Given the description of an element on the screen output the (x, y) to click on. 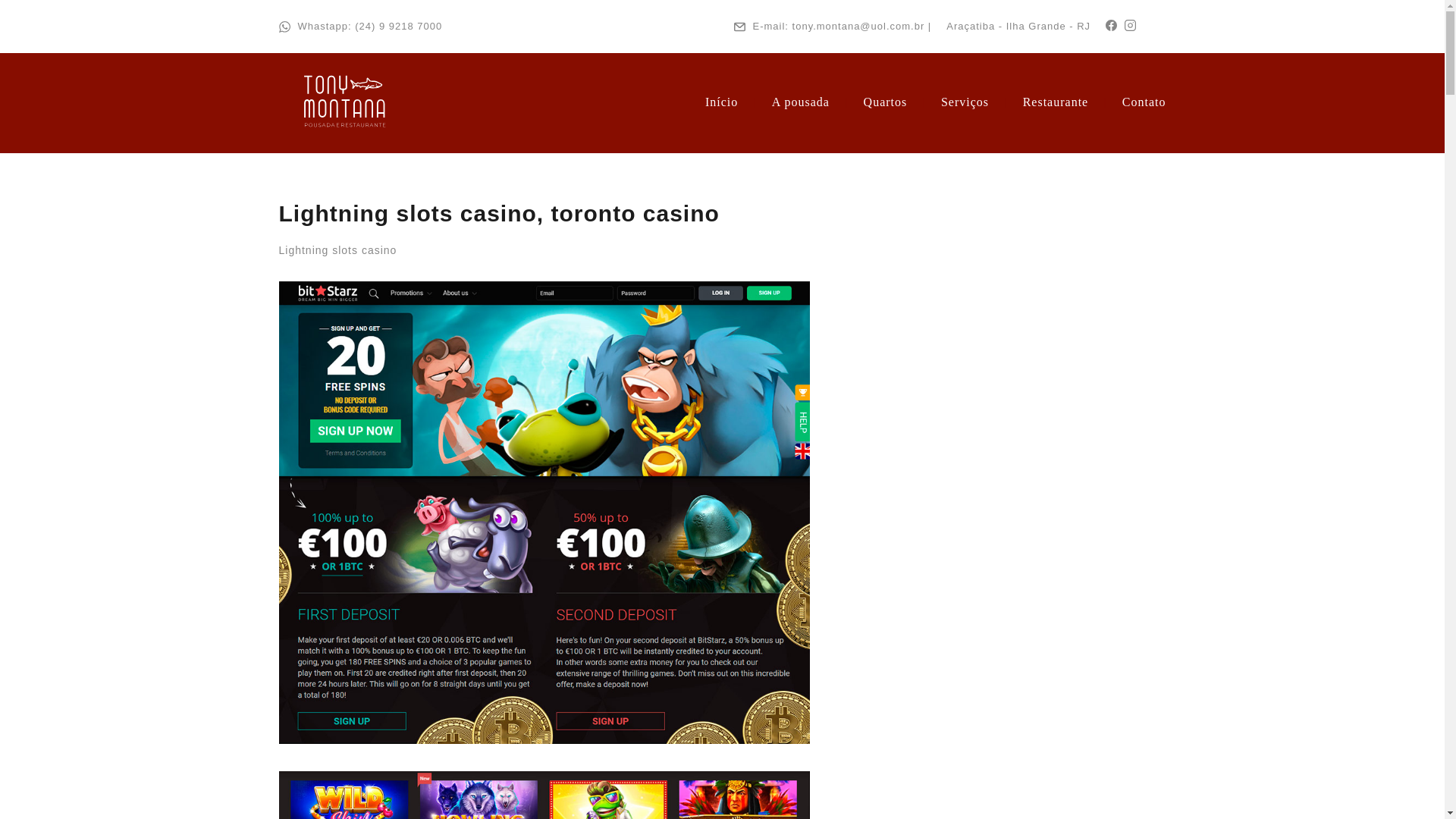
A pousada (800, 101)
Restaurante (1056, 101)
Contato (1144, 101)
Quartos (885, 101)
Lightning slots casino (544, 795)
Lightning slots casino (338, 250)
